Given the description of an element on the screen output the (x, y) to click on. 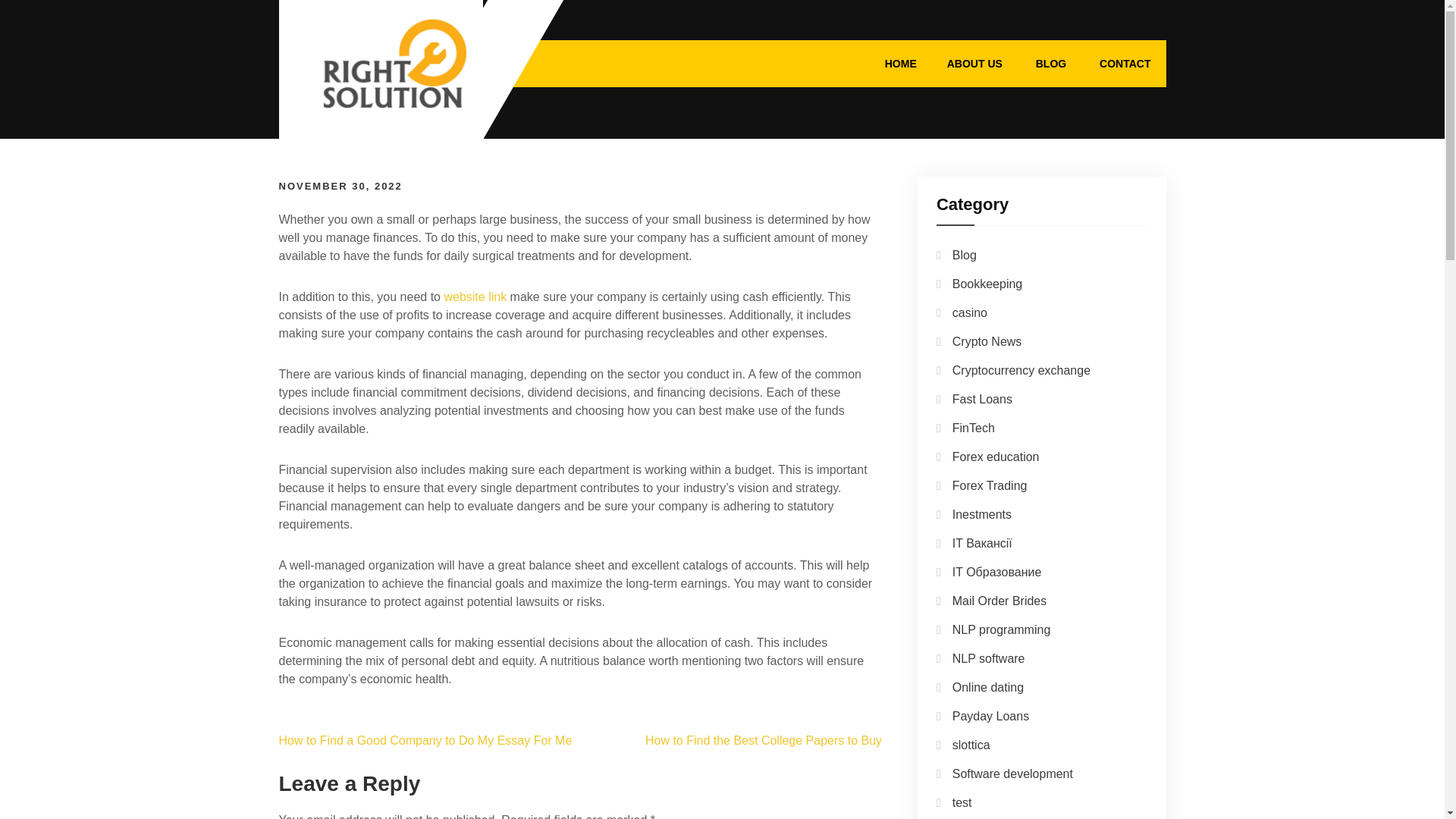
Bookkeeping (987, 283)
Fast Loans (981, 399)
slottica (971, 744)
How to Find a Good Company to Do My Essay For Me (425, 739)
Inestments (981, 513)
FinTech (973, 427)
ABOUT US (974, 63)
BLOG (1050, 63)
Software development (1012, 773)
Payday Loans (990, 716)
CONTACT (1125, 63)
Crypto News (987, 341)
Forex Trading (989, 485)
Blog (964, 254)
NLP programming (1001, 629)
